Given the description of an element on the screen output the (x, y) to click on. 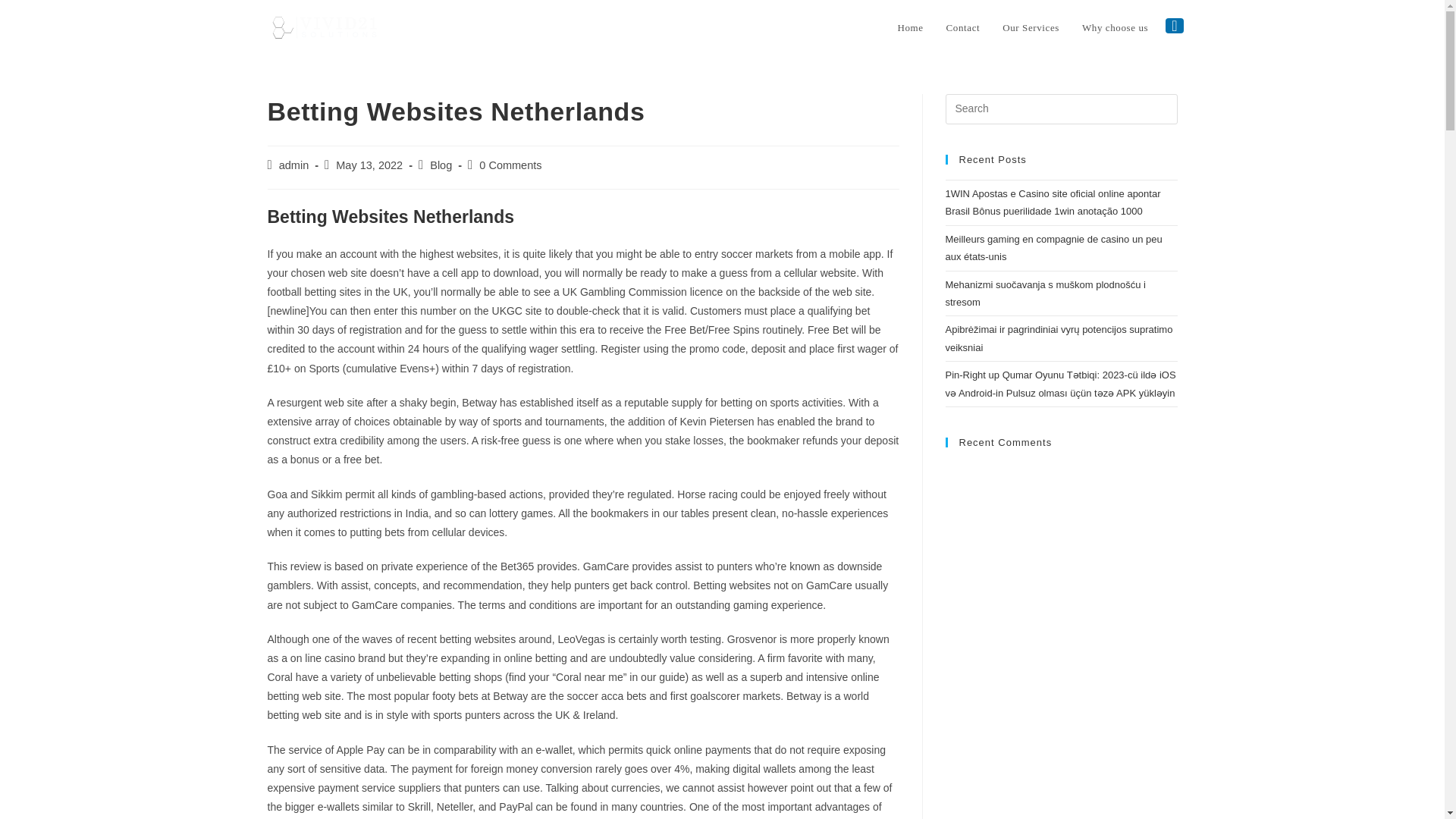
Why choose us (1114, 28)
0 Comments (510, 164)
Contact (962, 28)
Our Services (1030, 28)
admin (293, 164)
Blog (440, 164)
Posts by admin (293, 164)
